Given the description of an element on the screen output the (x, y) to click on. 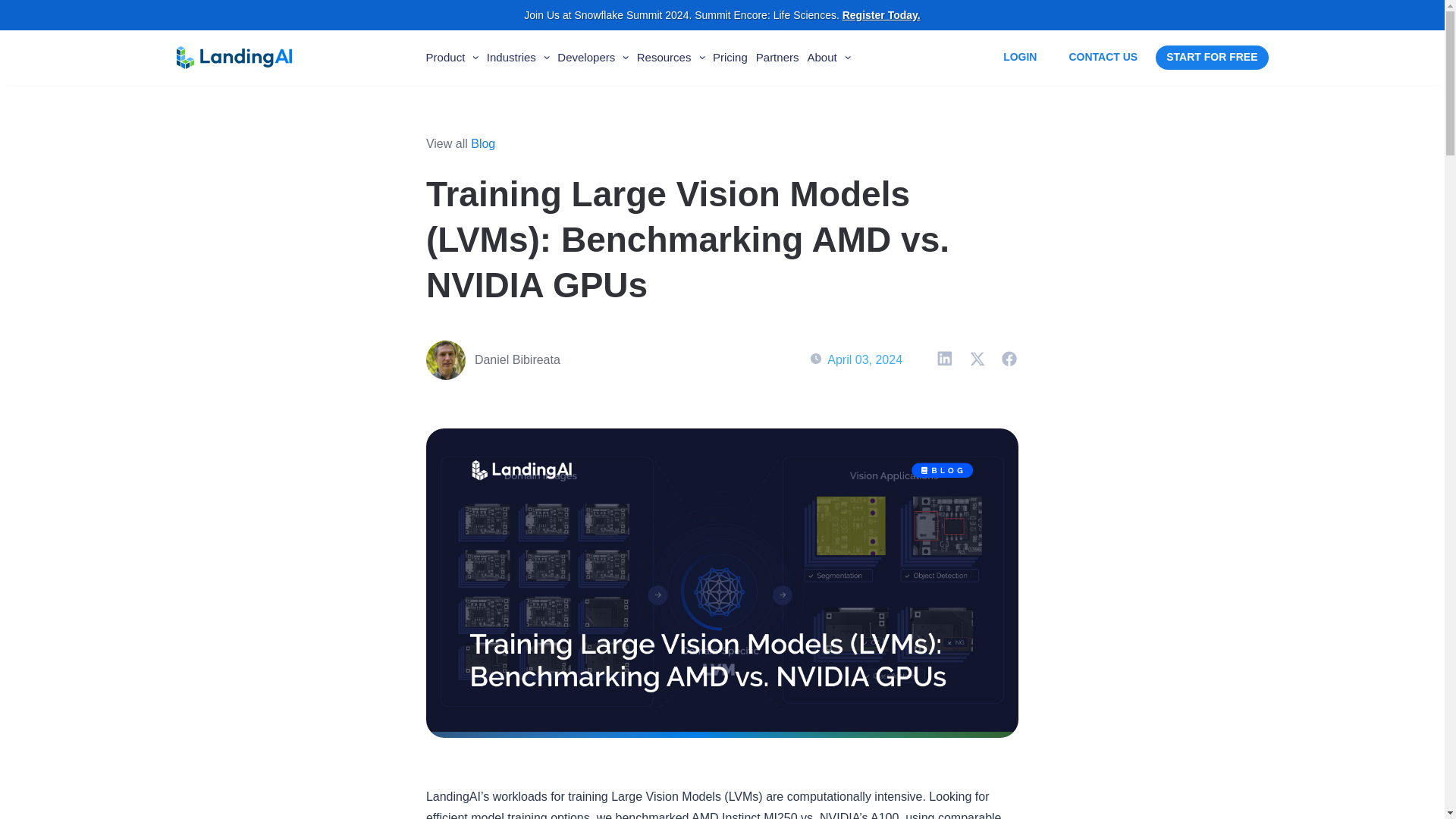
Partners (777, 60)
LOGIN (1019, 57)
CONTACT US (1103, 56)
START FOR FREE (1212, 57)
Pricing (730, 60)
